Given the description of an element on the screen output the (x, y) to click on. 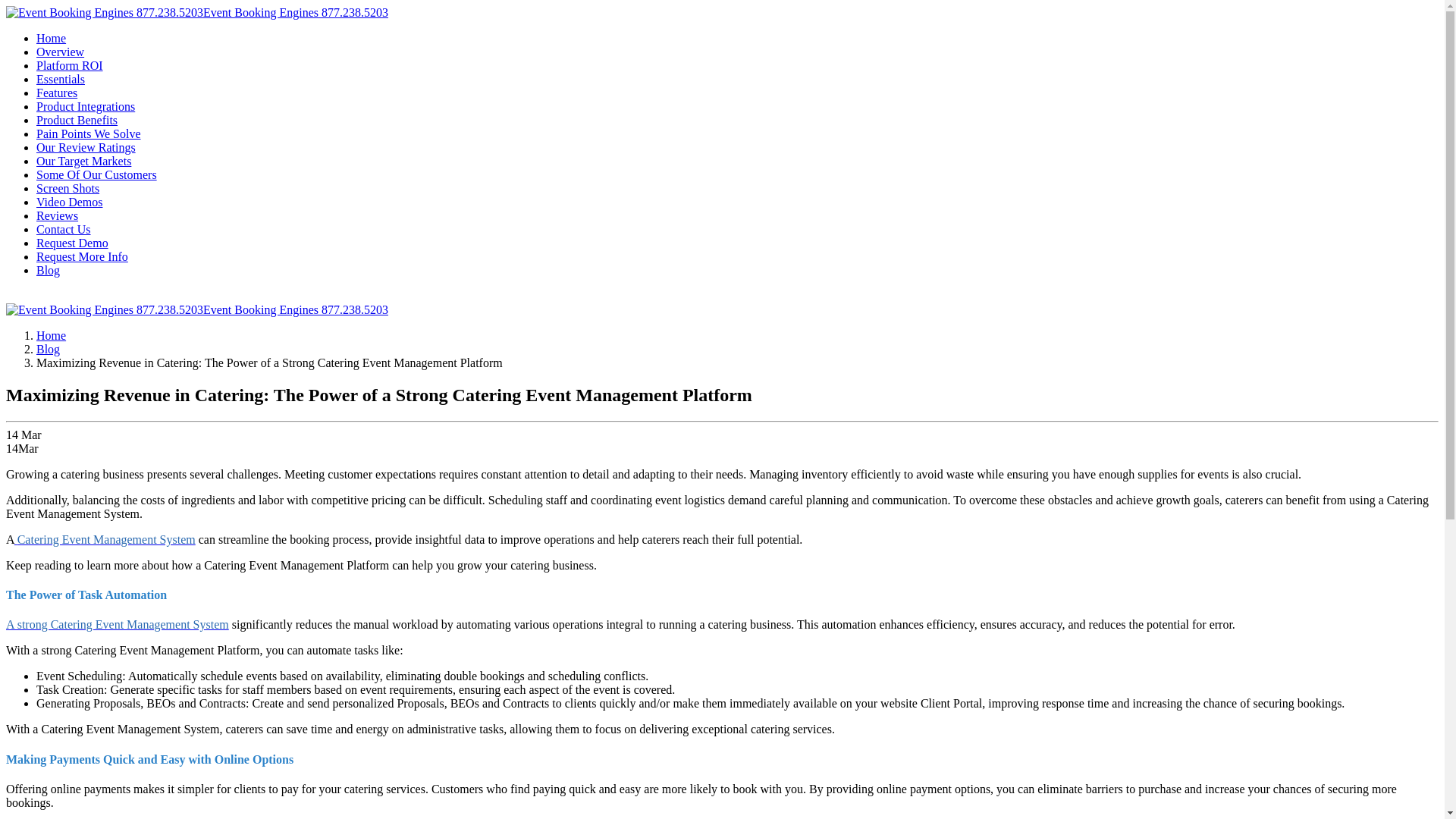
Video Demos (68, 201)
Features (56, 92)
Screen Shots (67, 187)
Some Of Our Customers (96, 174)
Reviews (57, 215)
Home (50, 38)
Request More Info (82, 256)
Platform ROI (69, 65)
Product Benefits (76, 119)
Event Booking Engines 877.238.5203 (196, 309)
Product Integrations (85, 106)
Overview (60, 51)
Contact Us (63, 228)
Home (50, 335)
